Given the description of an element on the screen output the (x, y) to click on. 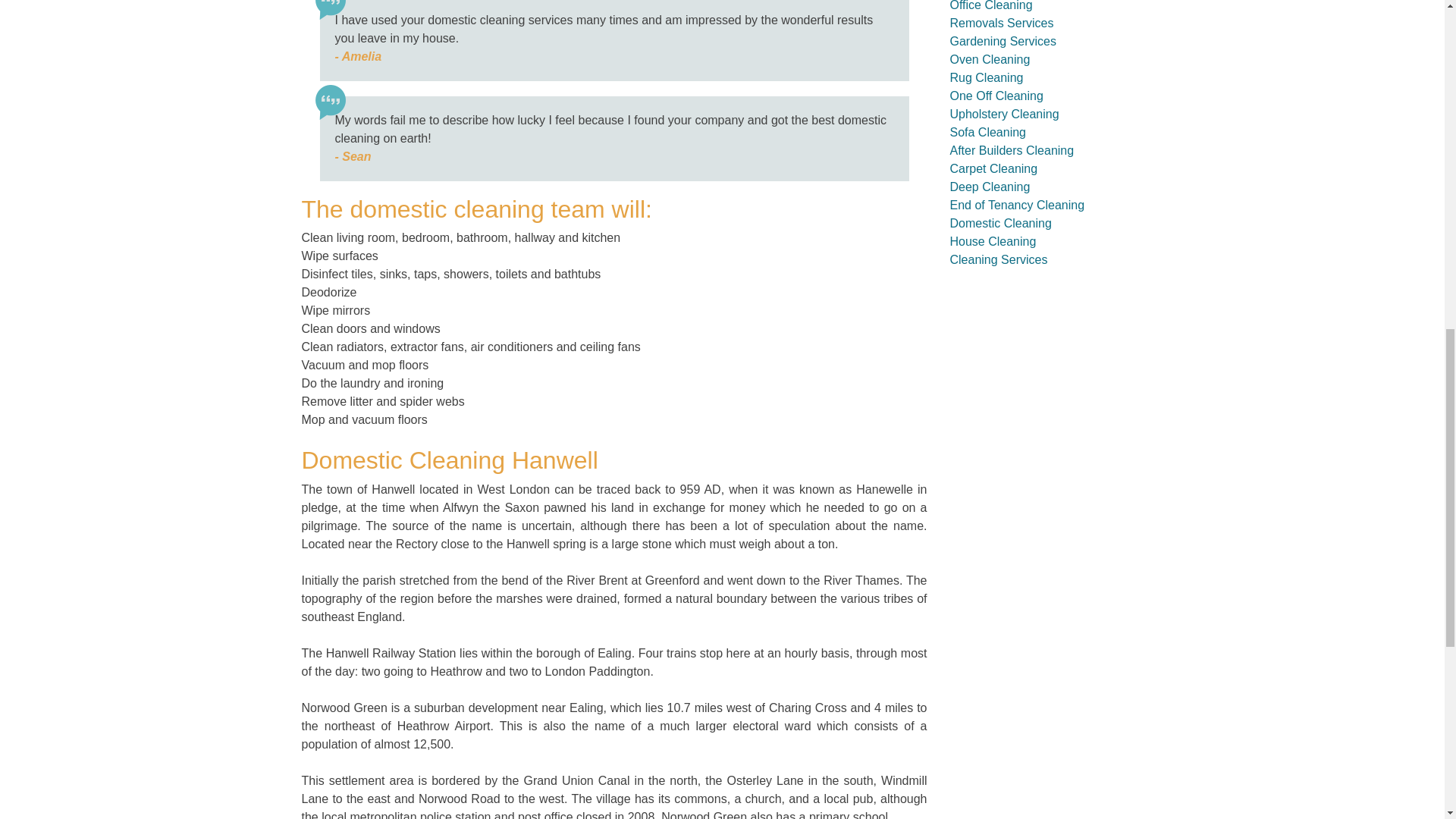
Office Cleaning (990, 5)
Cleaning Services (997, 259)
Sofa Cleaning (987, 132)
One Off Cleaning (995, 95)
Rug Cleaning (986, 77)
Carpet Cleaning (992, 168)
Deep Cleaning (989, 186)
Removals Services (1000, 22)
Oven Cleaning (989, 59)
Upholstery Cleaning (1003, 113)
